Given the description of an element on the screen output the (x, y) to click on. 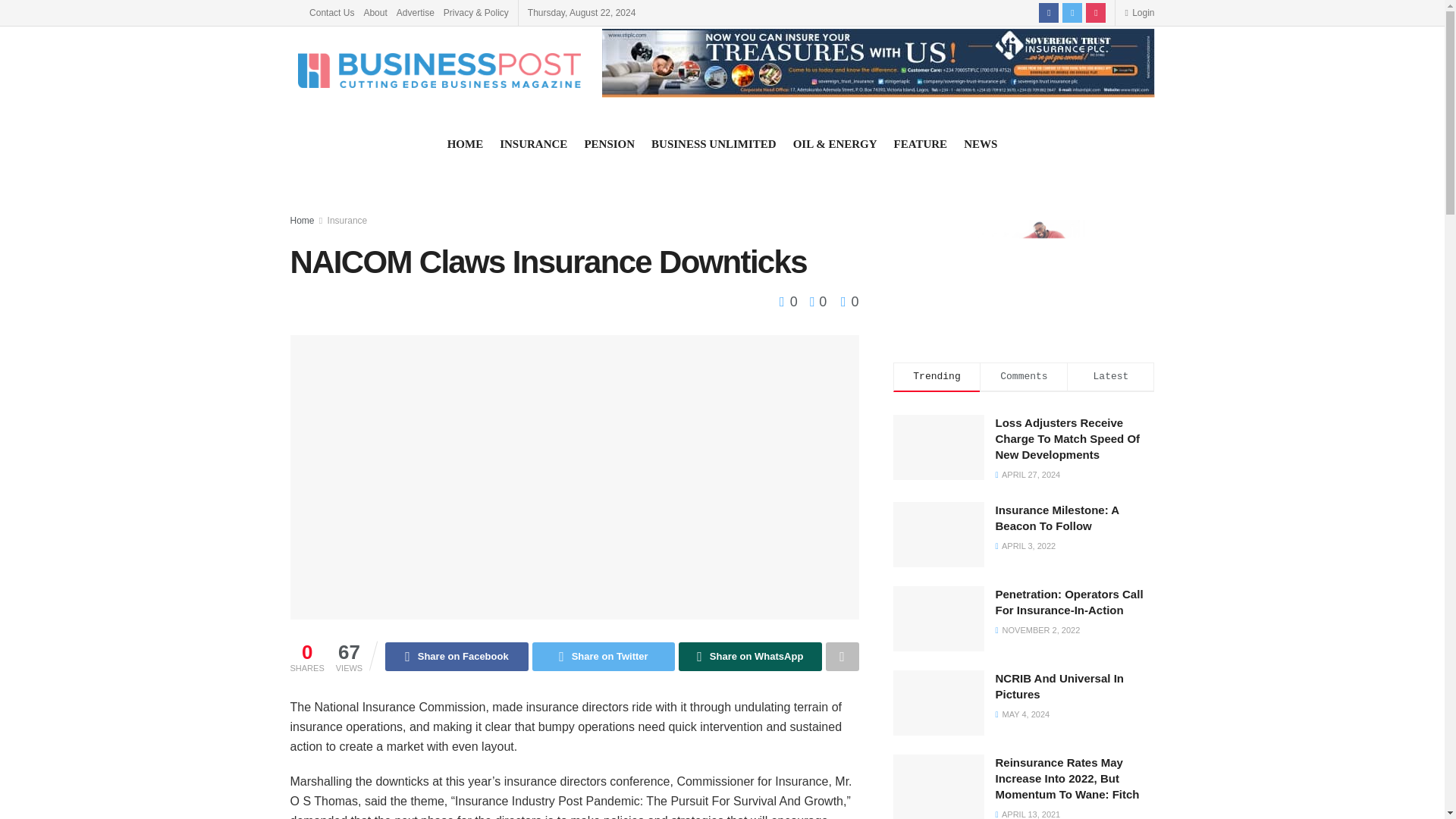
Contact Us (330, 12)
NEWS (980, 144)
Advertise (414, 12)
HOME (464, 144)
INSURANCE (533, 144)
0 (790, 301)
About (374, 12)
Login (1139, 12)
FEATURE (920, 144)
PENSION (608, 144)
